Given the description of an element on the screen output the (x, y) to click on. 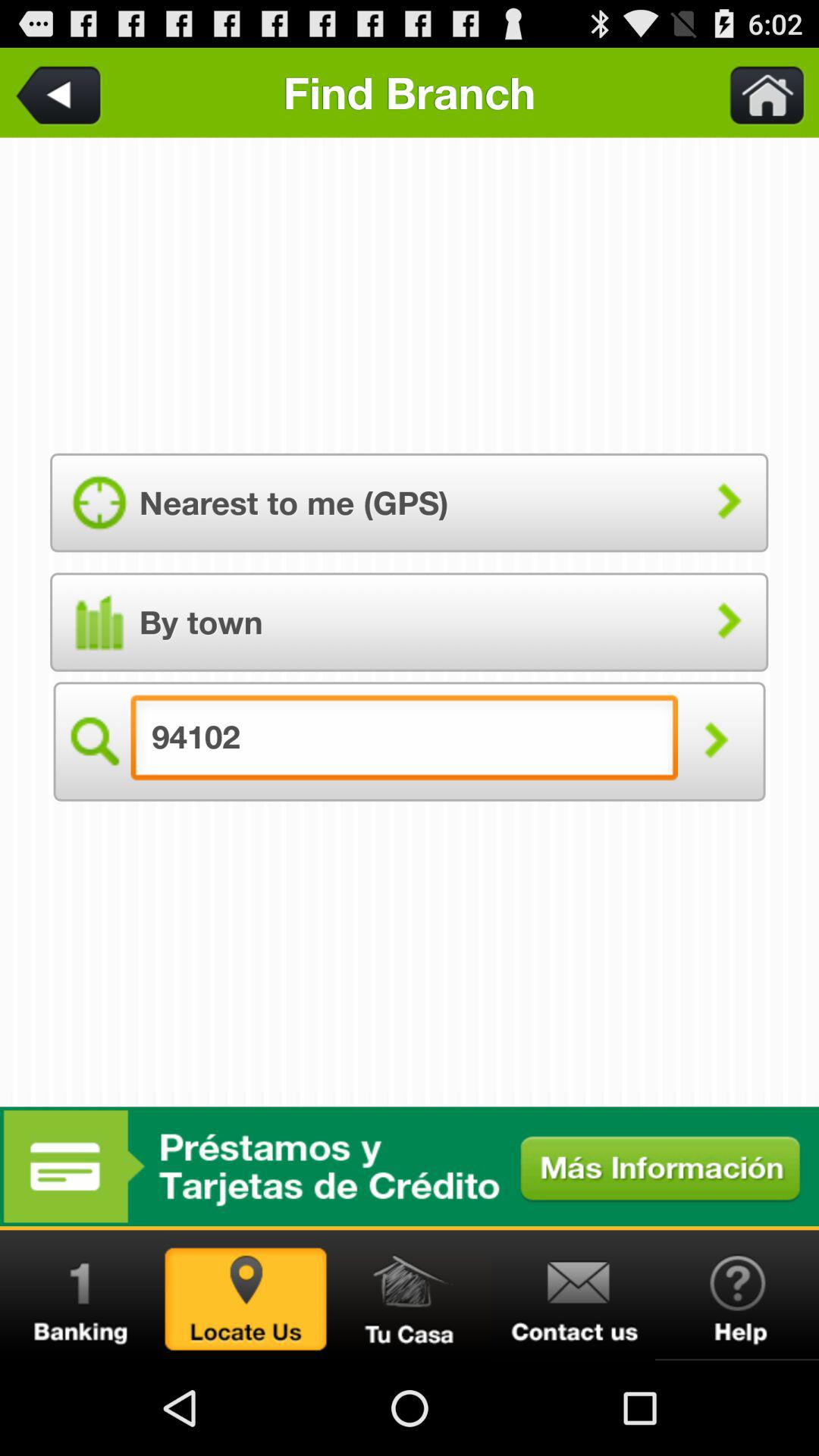
search button (92, 741)
